Given the description of an element on the screen output the (x, y) to click on. 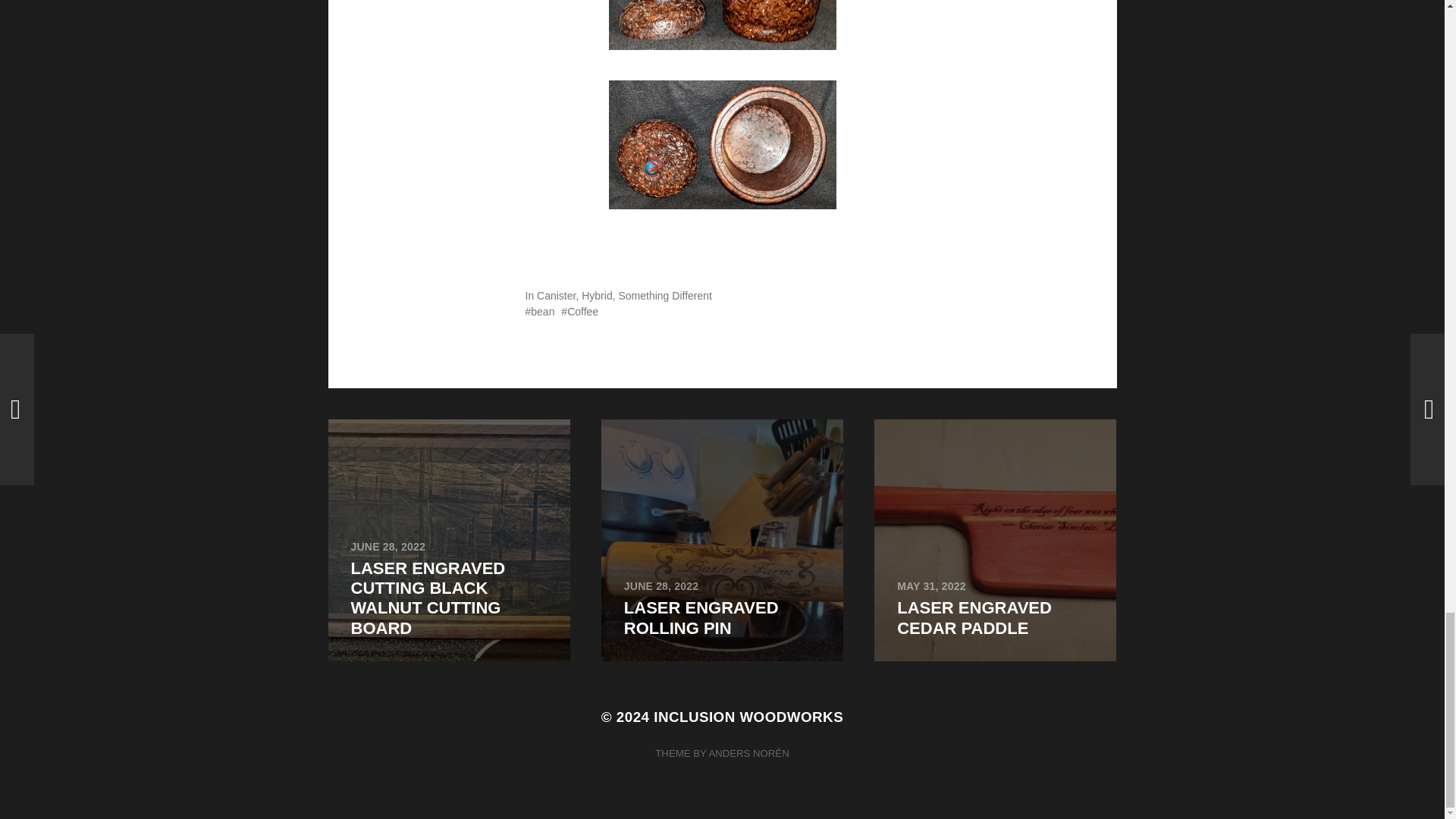
Hybrid (722, 539)
Coffee (595, 295)
Canister (579, 311)
Something Different (556, 295)
bean (664, 295)
INCLUSION WOODWORKS (995, 539)
